Given the description of an element on the screen output the (x, y) to click on. 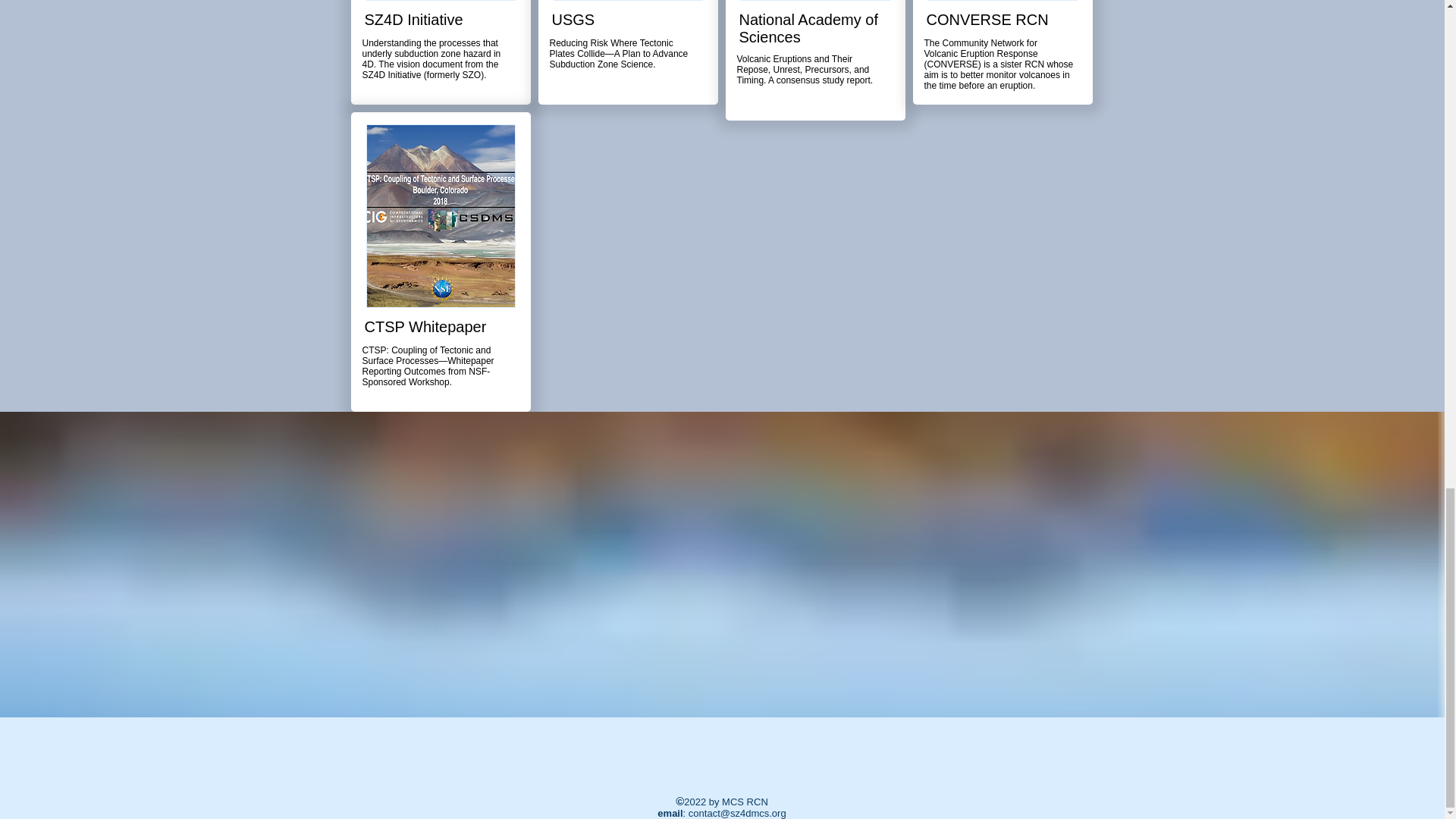
Twitter Follow (727, 785)
